Given the description of an element on the screen output the (x, y) to click on. 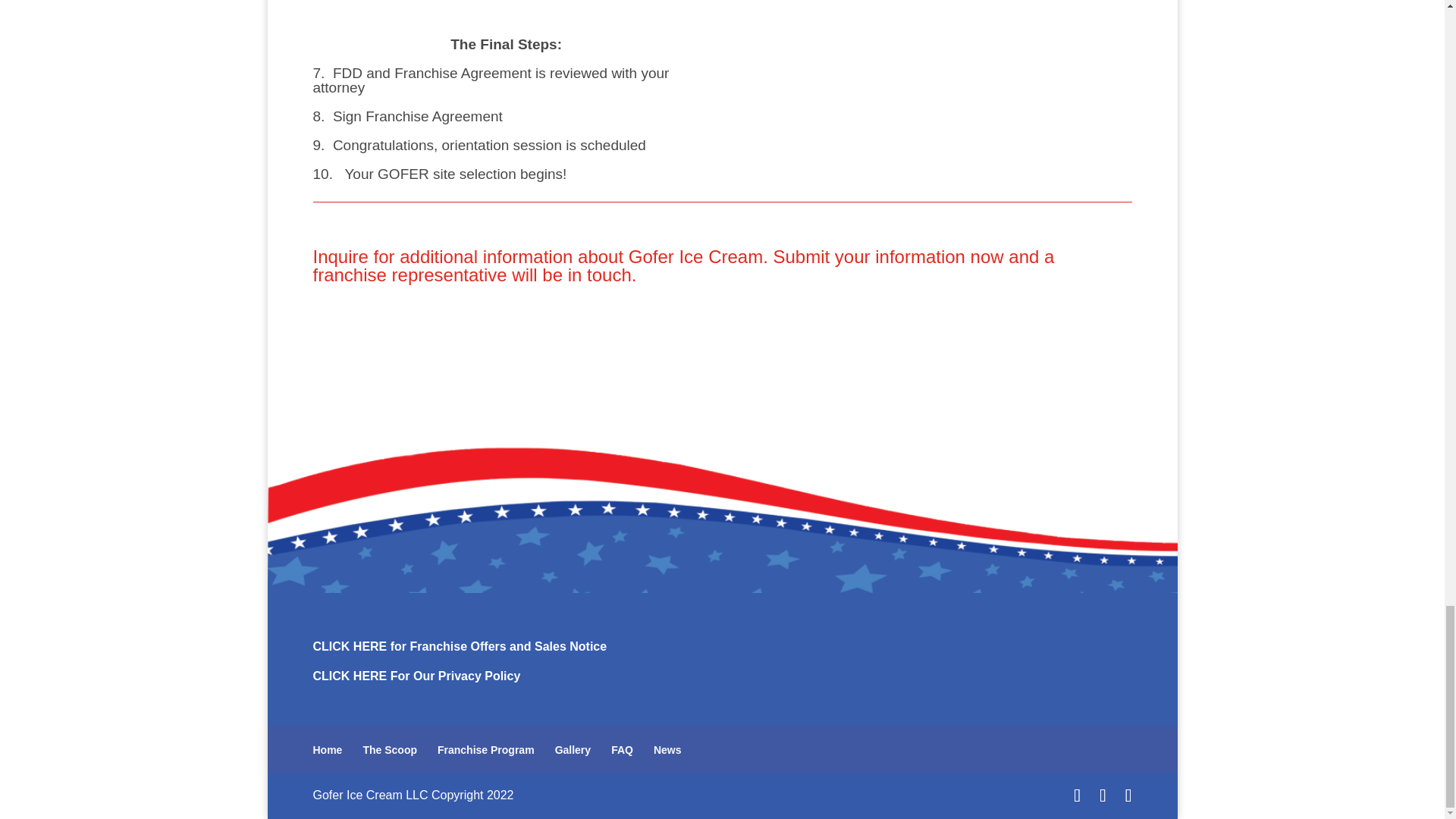
CLICK HERE for Franchise Offers and Sales Notice (460, 645)
Gallery (572, 749)
FAQ (622, 749)
The Scoop (389, 749)
Franchise Program (486, 749)
News (667, 749)
CLICK HERE For Our Privacy Policy (416, 675)
Home (327, 749)
